Given the description of an element on the screen output the (x, y) to click on. 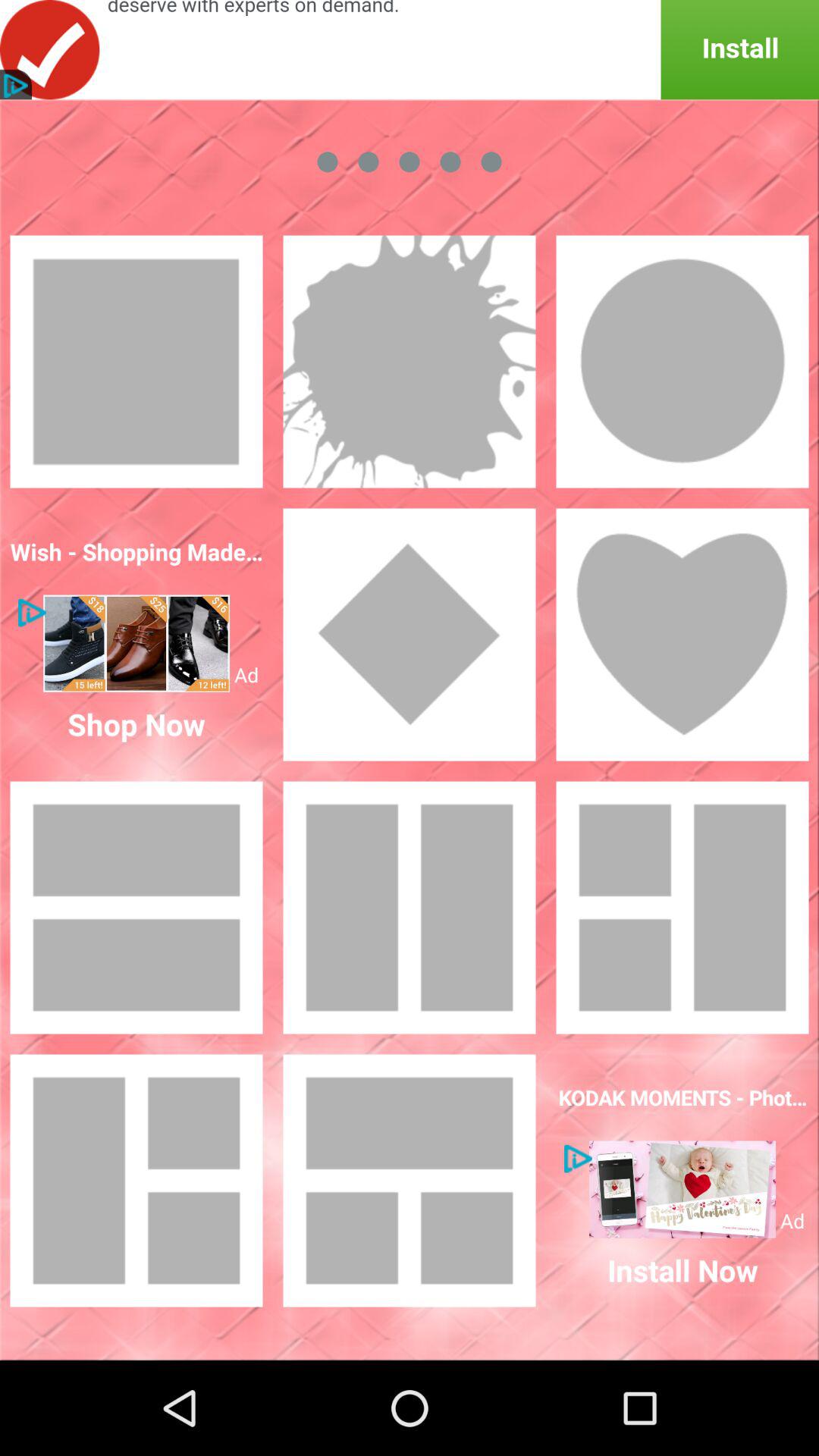
photo collage option (409, 1180)
